Given the description of an element on the screen output the (x, y) to click on. 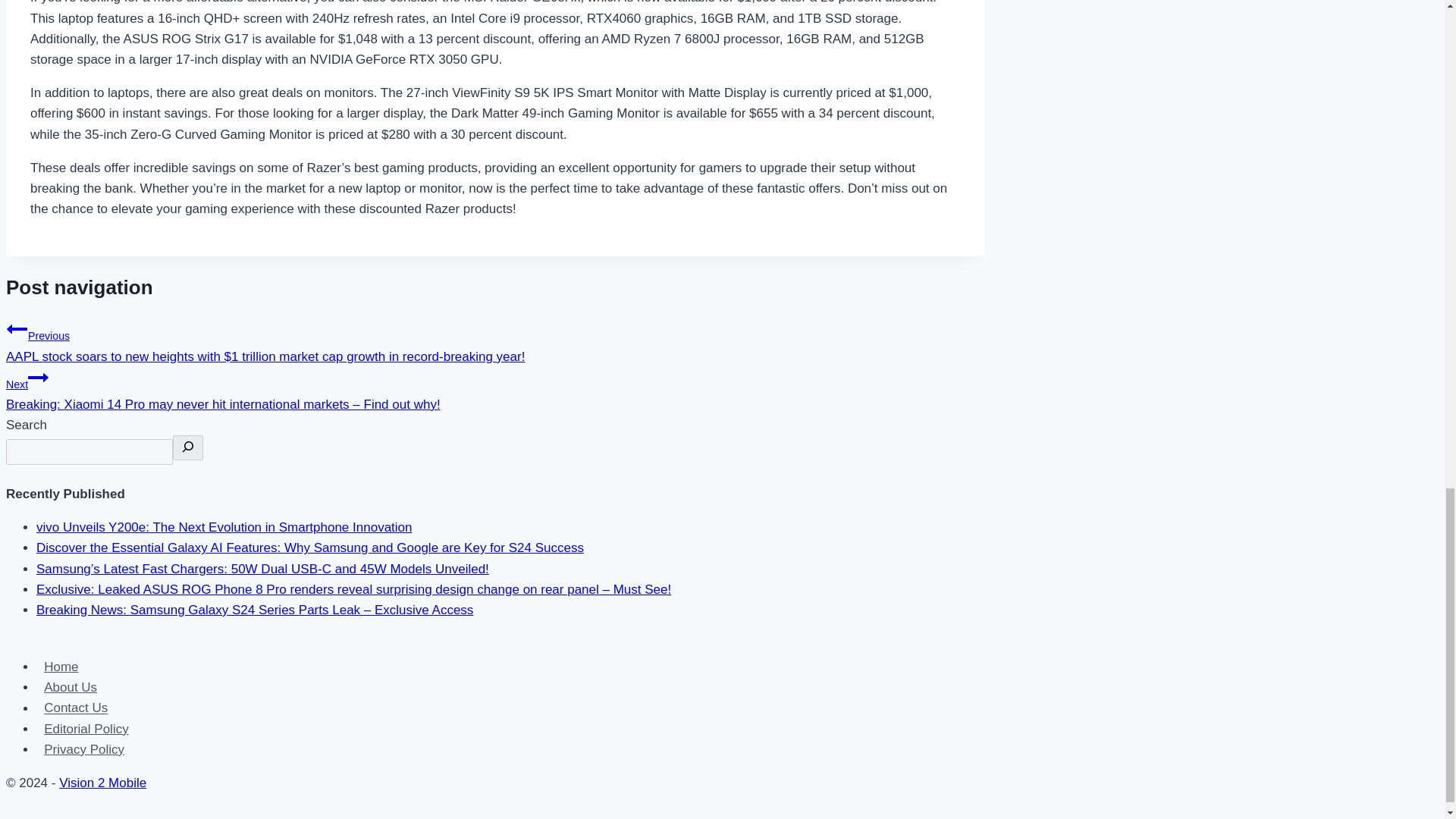
Continue (37, 377)
Contact Us (75, 707)
Home (60, 667)
Previous (16, 328)
About Us (70, 687)
Vision 2 Mobile (103, 782)
Privacy Policy (84, 749)
Editorial Policy (86, 729)
